Given the description of an element on the screen output the (x, y) to click on. 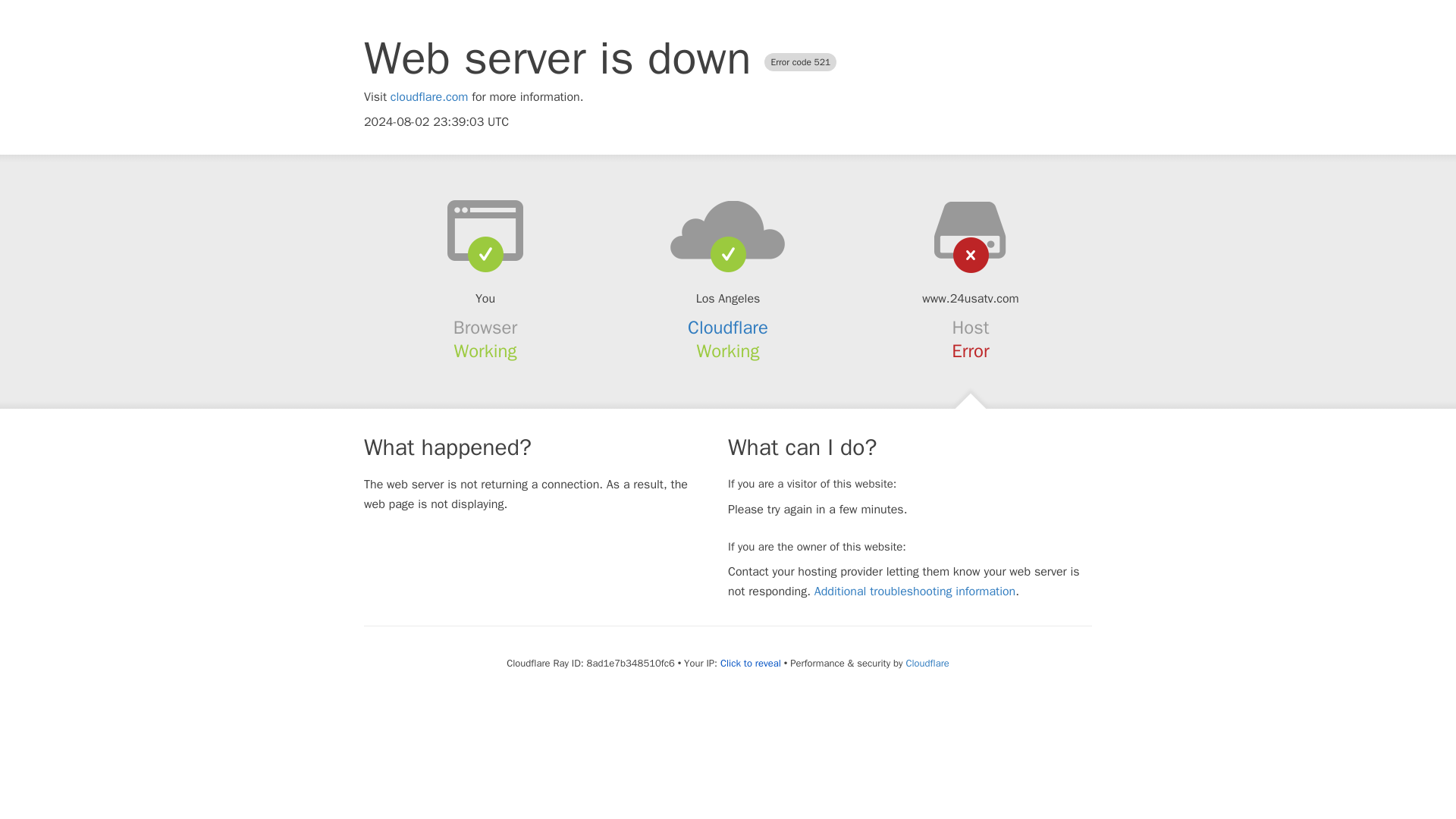
Additional troubleshooting information (913, 590)
cloudflare.com (429, 96)
Cloudflare (727, 327)
Click to reveal (750, 663)
Cloudflare (927, 662)
